Given the description of an element on the screen output the (x, y) to click on. 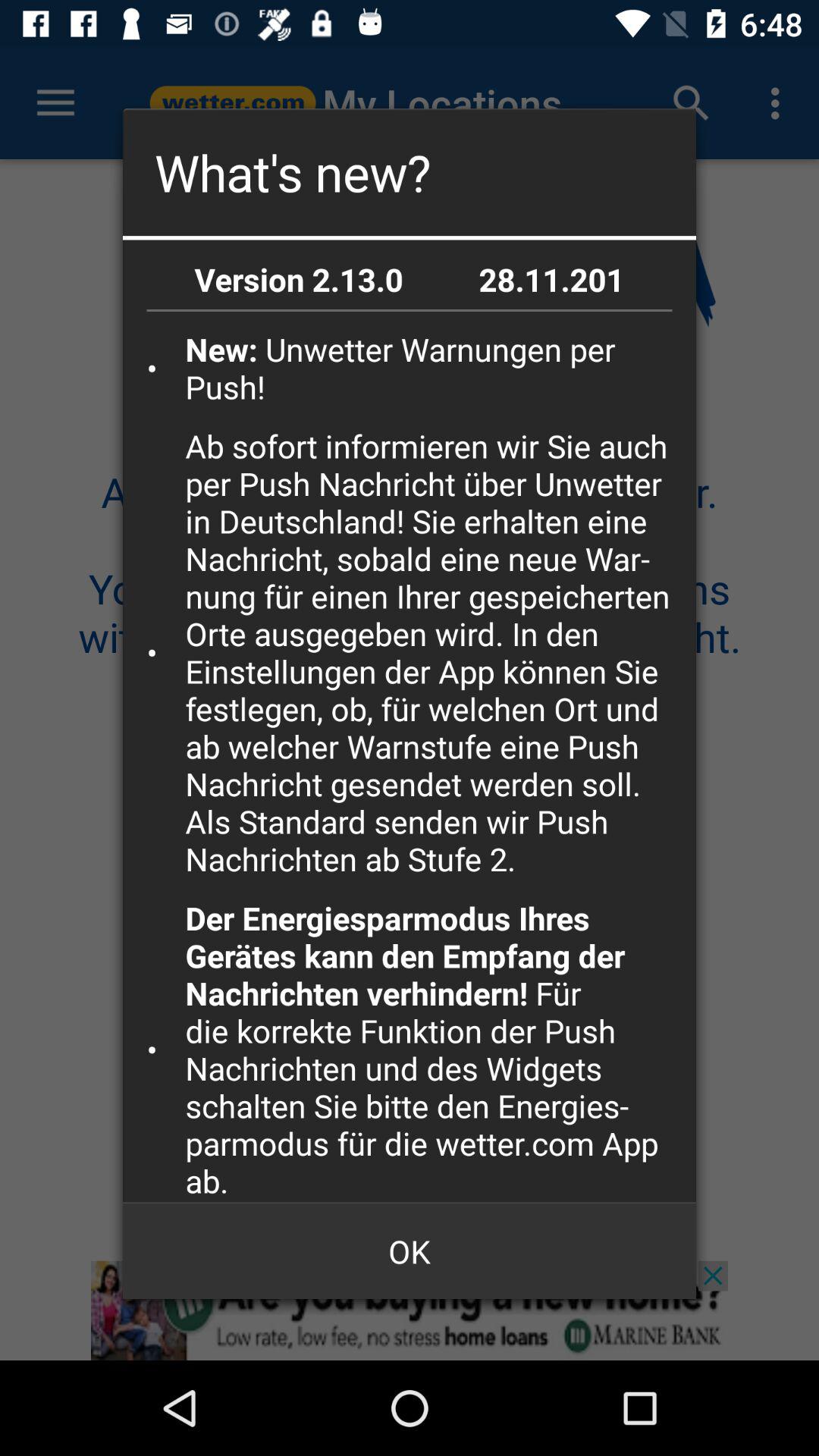
turn on the icon at the center (435, 652)
